Given the description of an element on the screen output the (x, y) to click on. 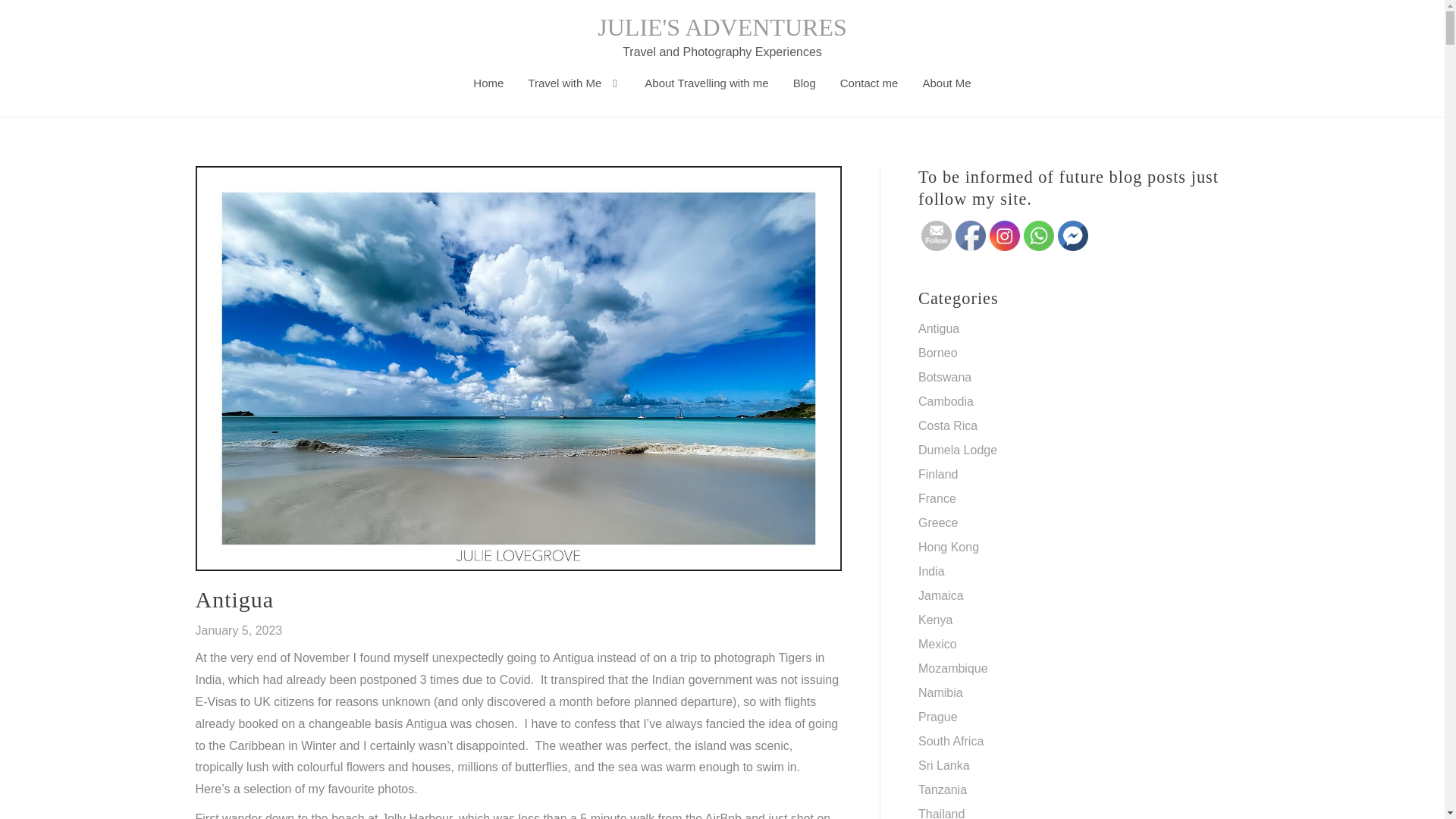
Instagram (1005, 235)
About Me (946, 83)
Blog (804, 83)
FbMessenger (1072, 235)
Costa Rica (947, 425)
France (937, 498)
Facebook (970, 235)
Borneo (938, 352)
Cambodia (946, 400)
Contact me (869, 83)
Antigua (938, 328)
JULIE'S ADVENTURES (720, 26)
Travel with Me (573, 83)
Greece (938, 522)
Finland (938, 473)
